Given the description of an element on the screen output the (x, y) to click on. 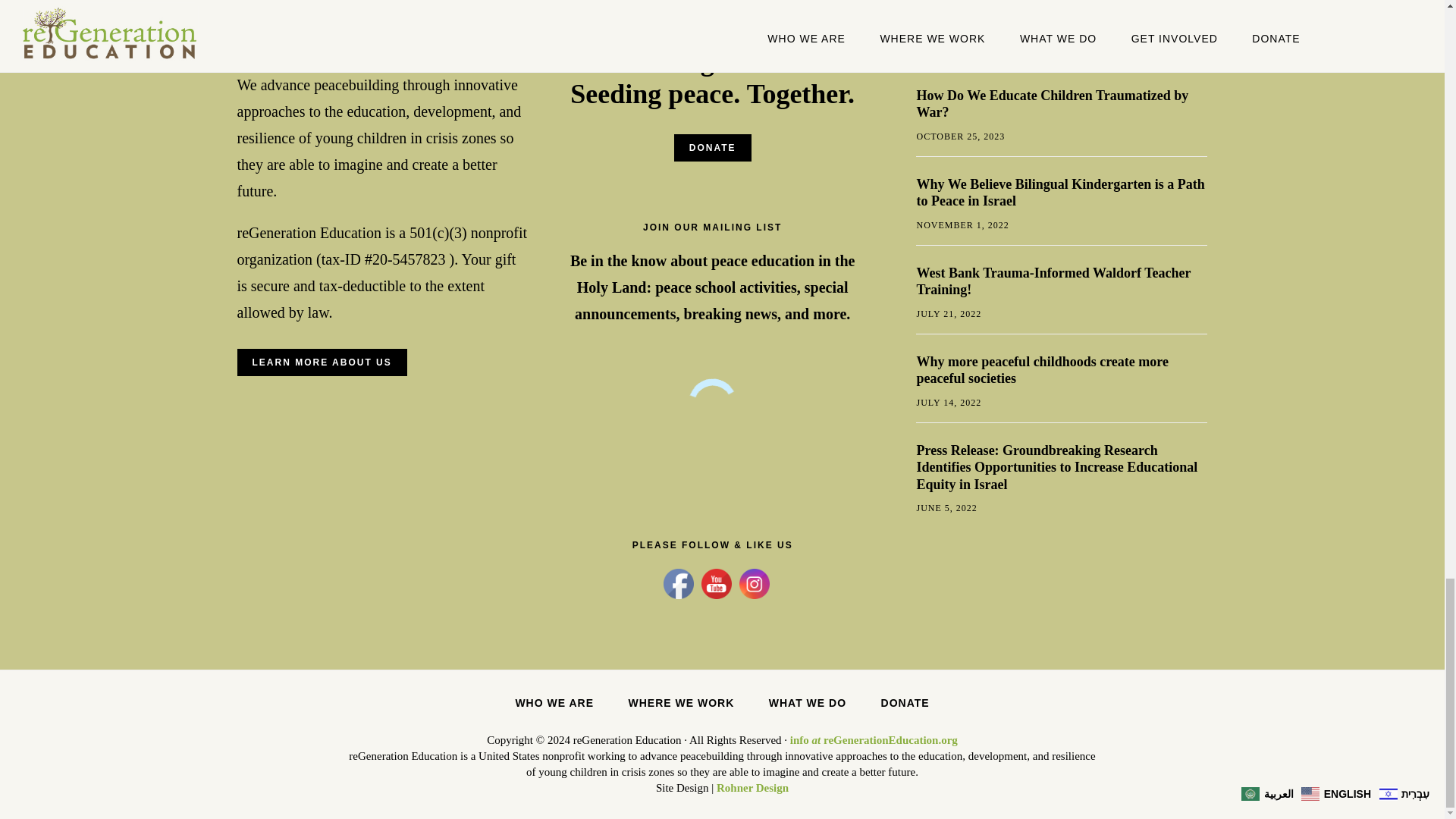
YouTube (716, 583)
Facebook (678, 583)
Instagram (754, 583)
